Given the description of an element on the screen output the (x, y) to click on. 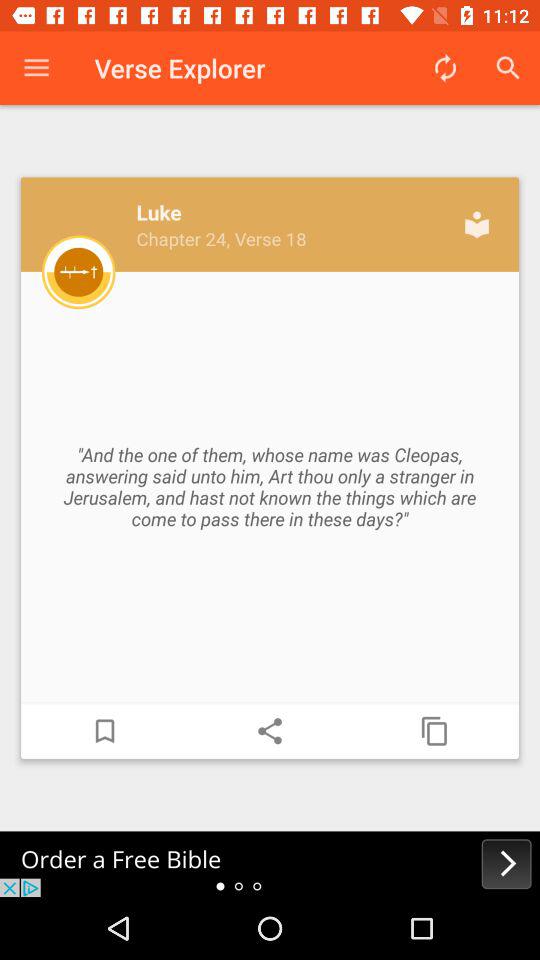
order a free bible (270, 864)
